Given the description of an element on the screen output the (x, y) to click on. 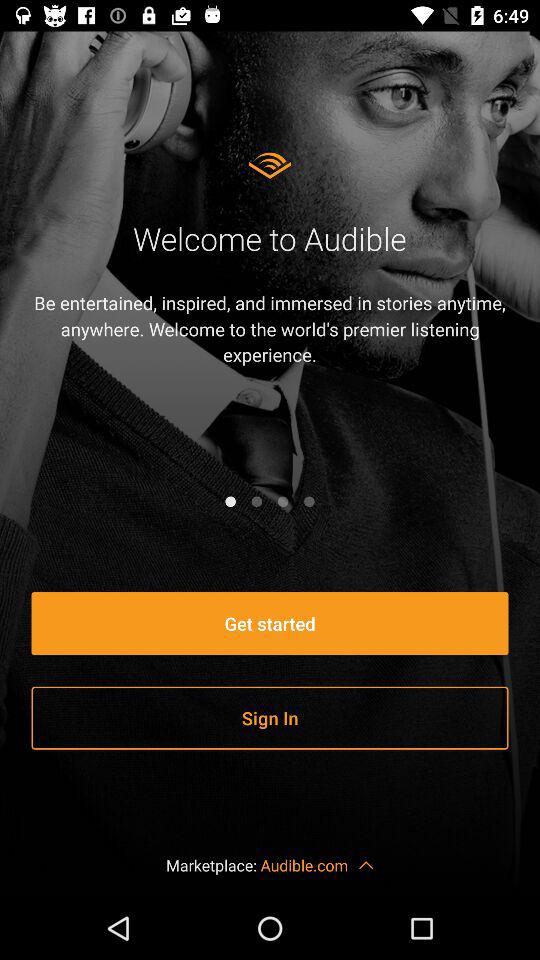
next (309, 501)
